Given the description of an element on the screen output the (x, y) to click on. 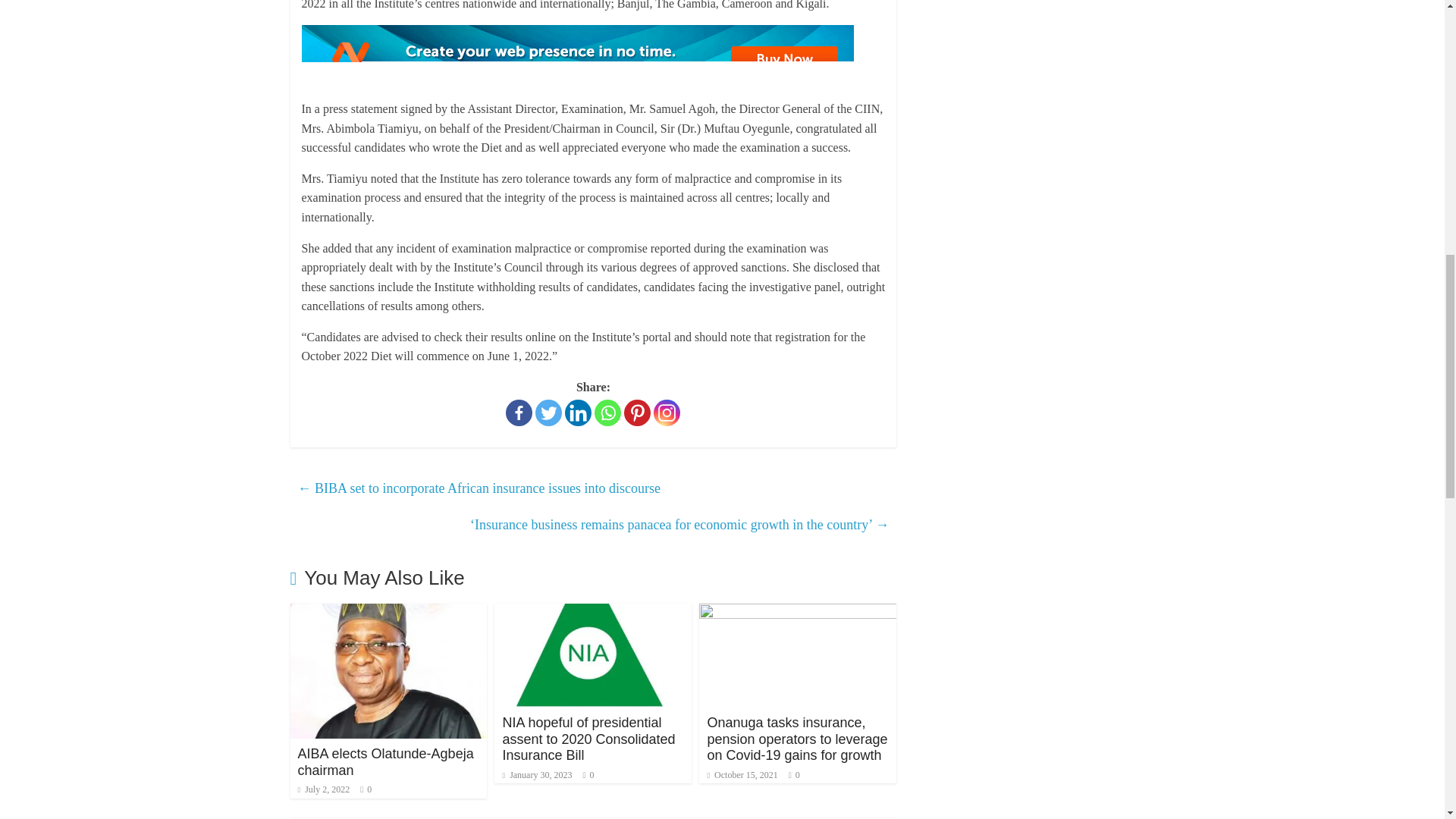
AIBA elects Olatunde-Agbeja chairman (385, 762)
Facebook (518, 412)
July 2, 2022 (323, 788)
Twitter (548, 412)
Linkedin (577, 412)
Whatsapp (607, 412)
